Given the description of an element on the screen output the (x, y) to click on. 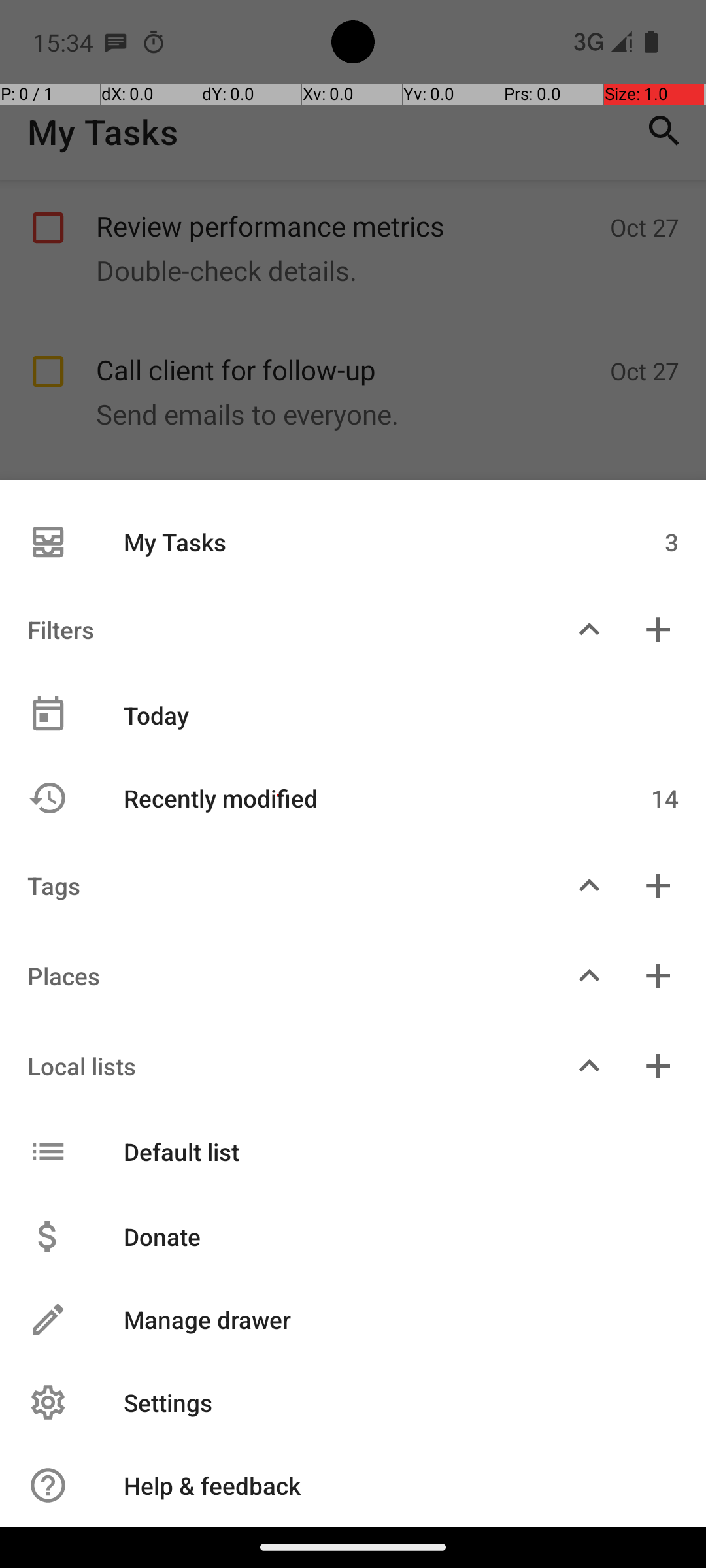
Filters Element type: android.widget.TextView (277, 629)
Recently modified Element type: android.widget.CheckedTextView (344, 797)
Places Element type: android.widget.TextView (277, 975)
Manage drawer Element type: android.widget.TextView (387, 1319)
